Given the description of an element on the screen output the (x, y) to click on. 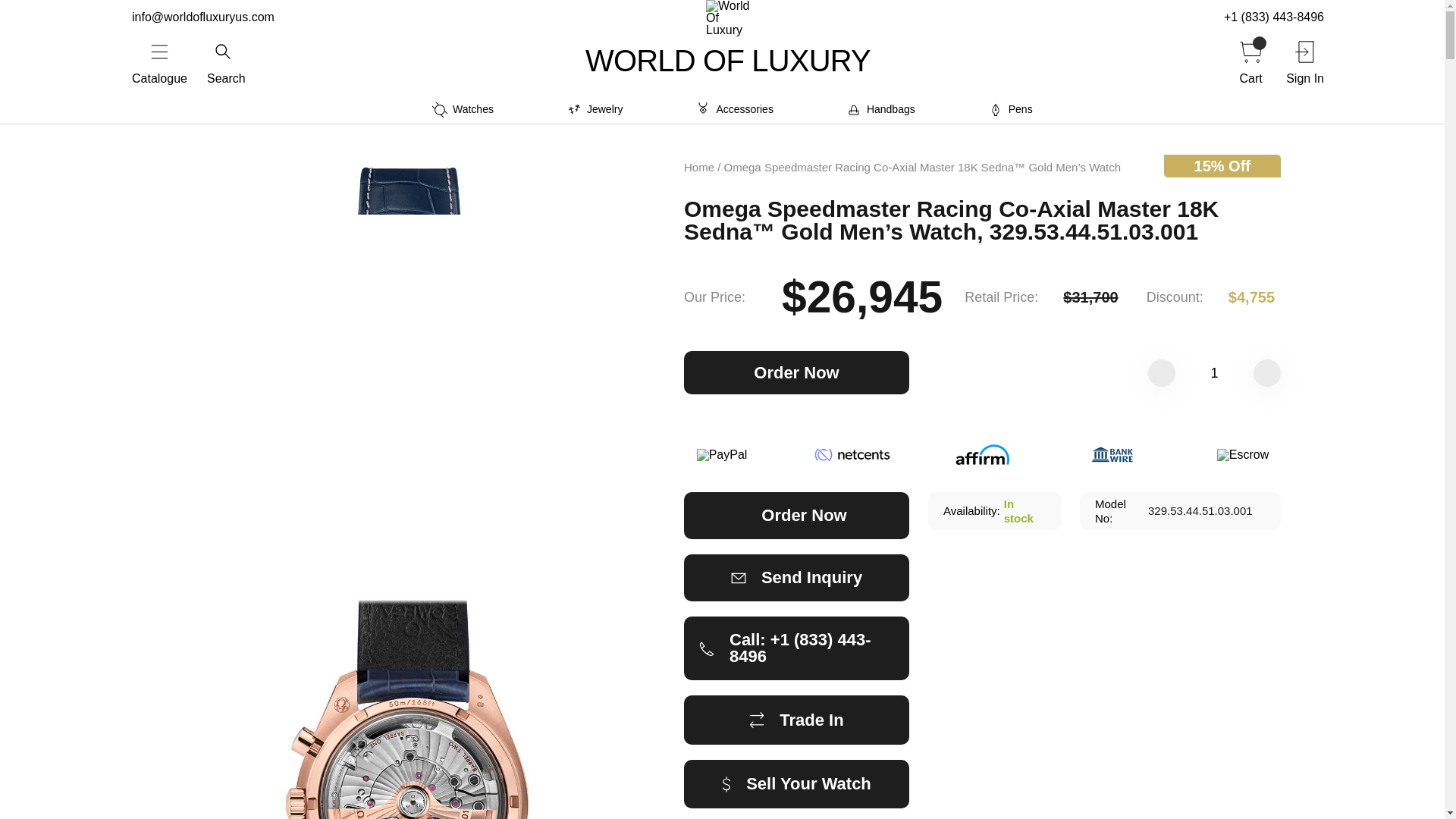
WORLD OF LUXURY (727, 60)
Catalogue (159, 60)
Watches (462, 109)
